Given the description of an element on the screen output the (x, y) to click on. 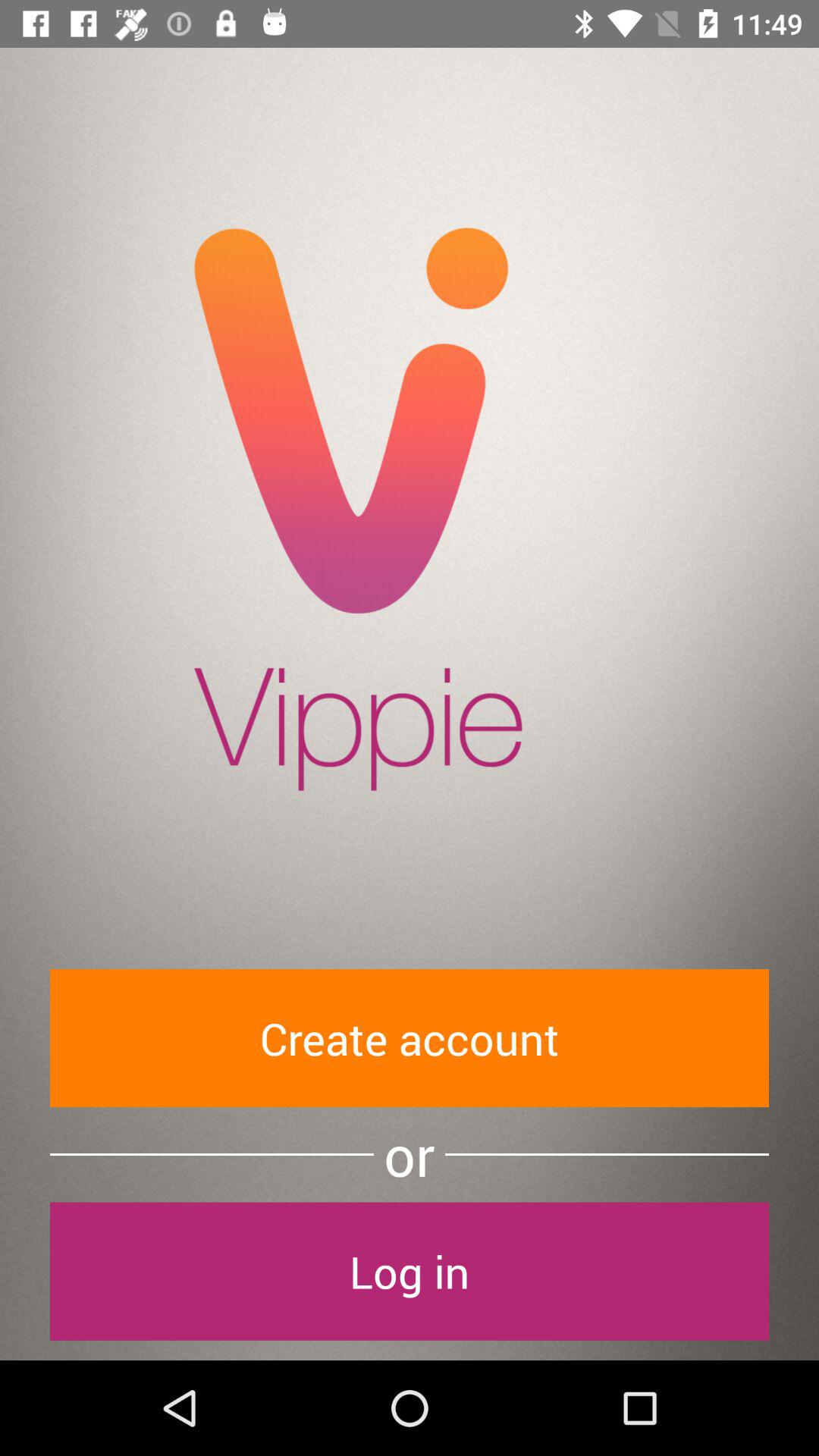
turn off log in icon (409, 1271)
